Given the description of an element on the screen output the (x, y) to click on. 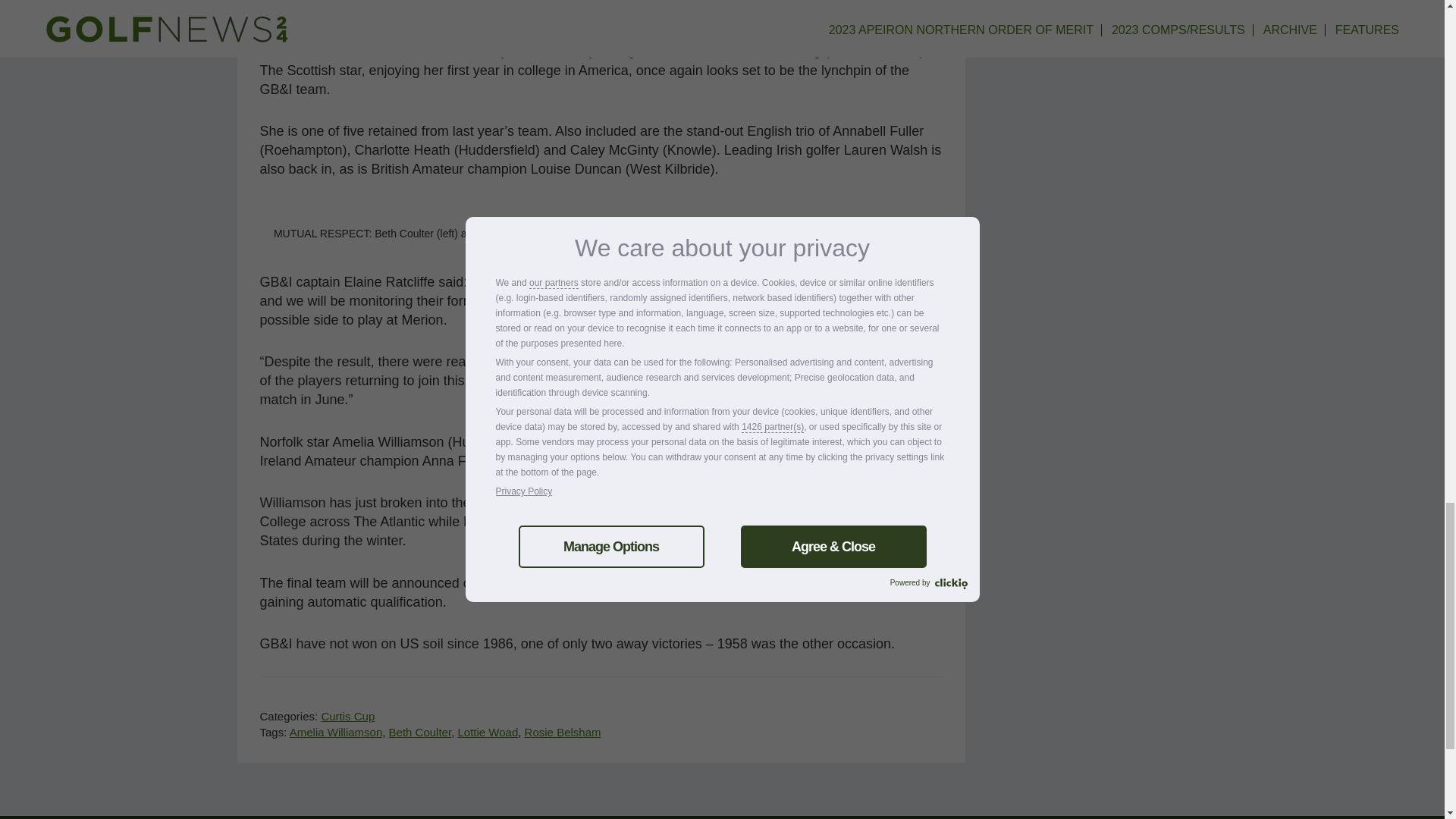
Amelia Williamson (335, 731)
Curtis Cup (347, 716)
